Given the description of an element on the screen output the (x, y) to click on. 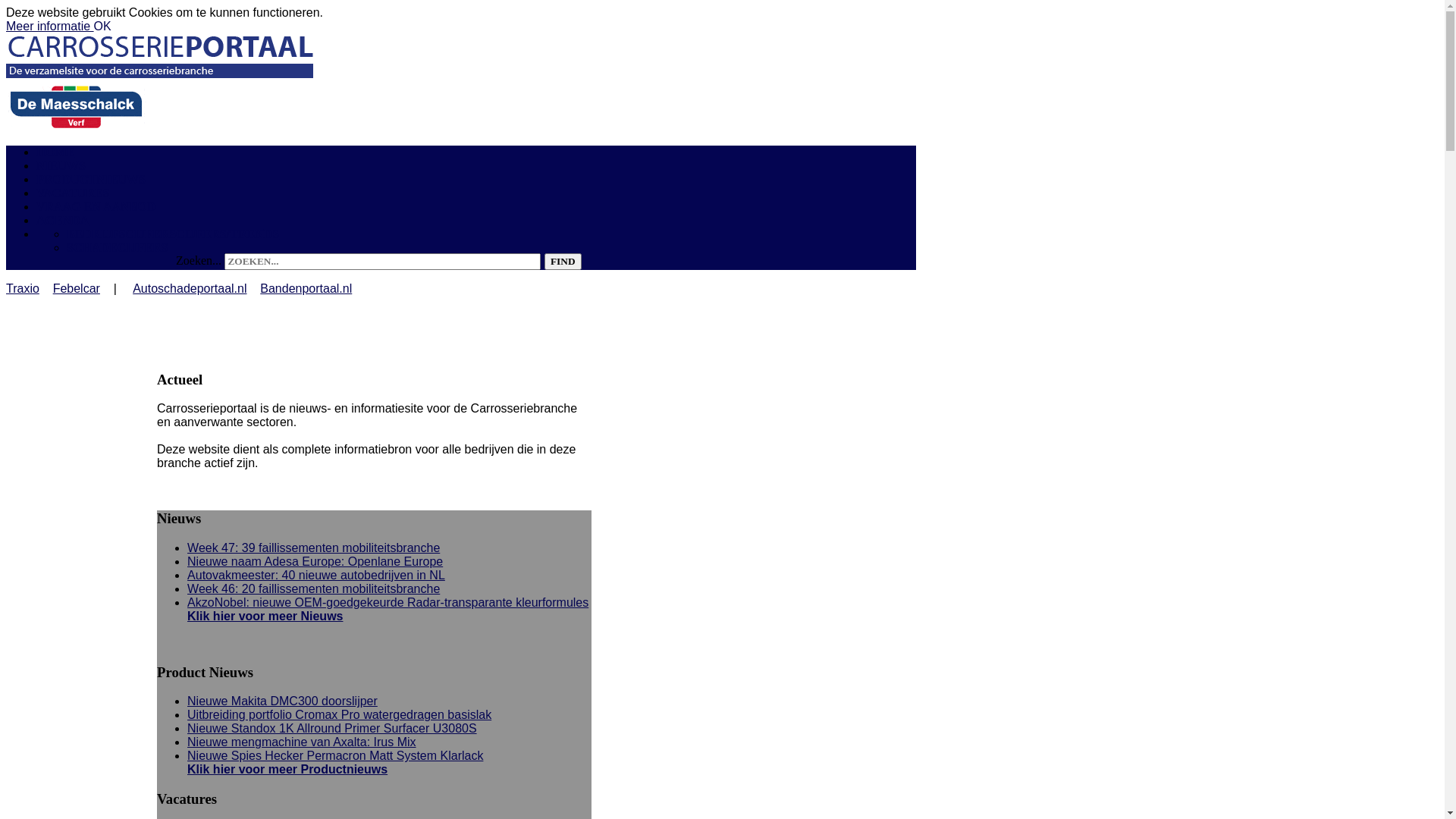
Febelcar Element type: text (76, 288)
PRODUCTNIEUWS Element type: text (90, 178)
Nieuwe mengmachine van Axalta: Irus Mix Element type: text (301, 741)
SCHADECIJFERS Element type: text (116, 247)
CIJFERS/TRENDS Element type: text (227, 233)
BEDRIJFSCIJFERS Element type: text (120, 233)
Nieuwe naam Adesa Europe: Openlane Europe Element type: text (314, 561)
Bandenportaal.nl Element type: text (305, 288)
AGENDA Element type: text (62, 219)
Autoschadeportaal.nl Element type: text (189, 288)
OK Element type: text (102, 25)
Klik hier voor meer Nieuws Element type: text (264, 615)
VRAAG EN AANBOD Element type: text (95, 206)
Week 46: 20 faillissementen mobiliteitsbranche Element type: text (313, 588)
FIND Element type: text (562, 261)
Traxio Element type: text (22, 288)
Autovakmeester: 40 nieuwe autobedrijven in NL Element type: text (316, 574)
Nieuwe Spies Hecker Permacron Matt System Klarlack Element type: text (335, 755)
Week 47: 39 faillissementen mobiliteitsbranche Element type: text (313, 547)
Klik hier voor meer Productnieuws Element type: text (287, 768)
NIEUWS Element type: text (60, 165)
HOME Element type: text (55, 151)
Nieuwe Makita DMC300 doorslijper Element type: text (282, 700)
Uitbreiding portfolio Cromax Pro watergedragen basislak Element type: text (339, 714)
VACATURES Element type: text (72, 192)
Demaesschalckverf Element type: hover (76, 125)
Nieuwe Standox 1K Allround Primer Surfacer U3080S Element type: text (331, 727)
Meer informatie Element type: text (50, 25)
